Given the description of an element on the screen output the (x, y) to click on. 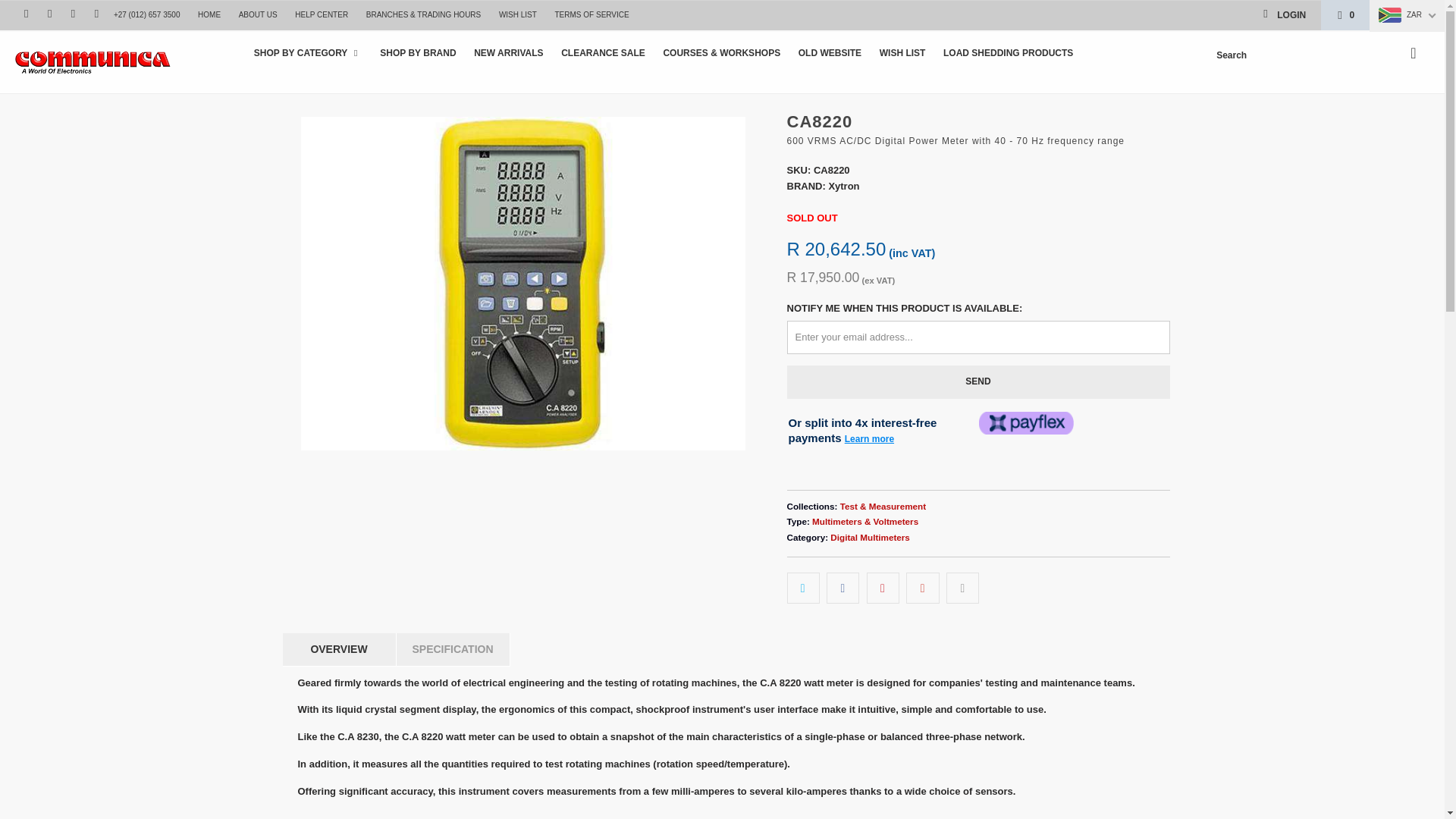
Communica South Africa on Facebook (48, 14)
Email this to a friend (962, 587)
My Account  (1282, 15)
Share this on Twitter (803, 587)
Communica South Africa on LinkedIn (94, 14)
Communica South Africa on Twitter (25, 14)
Products tagged Digital Multimeters (869, 537)
Communica South Africa on Instagram (71, 14)
Share this on Pinterest (882, 587)
Share this on Facebook (843, 587)
Send (978, 381)
Communica South Africa (122, 62)
